Given the description of an element on the screen output the (x, y) to click on. 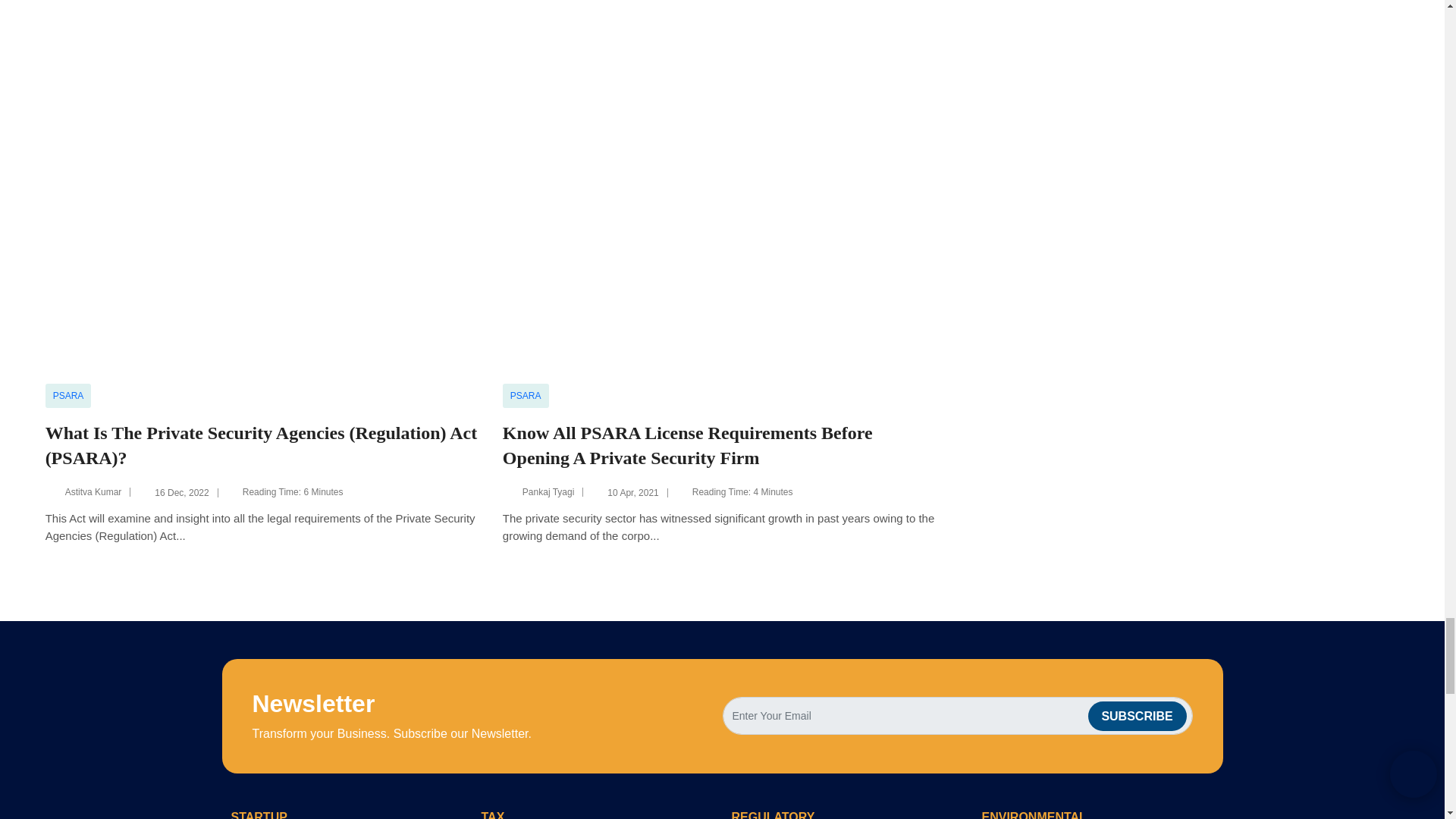
SUBSCRIBE (1136, 716)
